Given the description of an element on the screen output the (x, y) to click on. 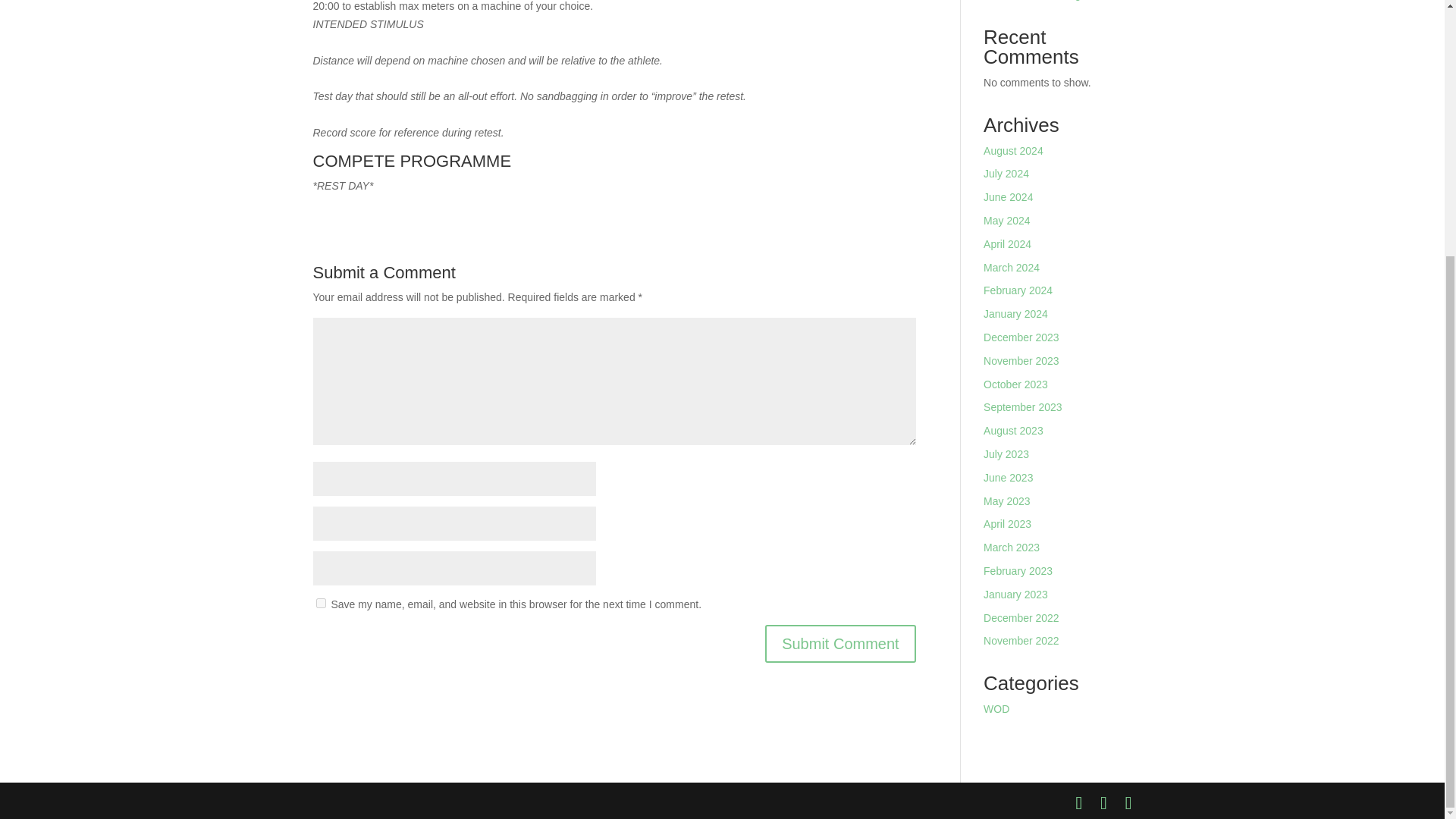
June 2024 (1008, 196)
February 2024 (1018, 290)
July 2023 (1006, 453)
November 2023 (1021, 360)
yes (319, 603)
August 2023 (1013, 430)
October 2023 (1016, 384)
July 2024 (1006, 173)
December 2023 (1021, 337)
August 2024 (1013, 150)
